Given the description of an element on the screen output the (x, y) to click on. 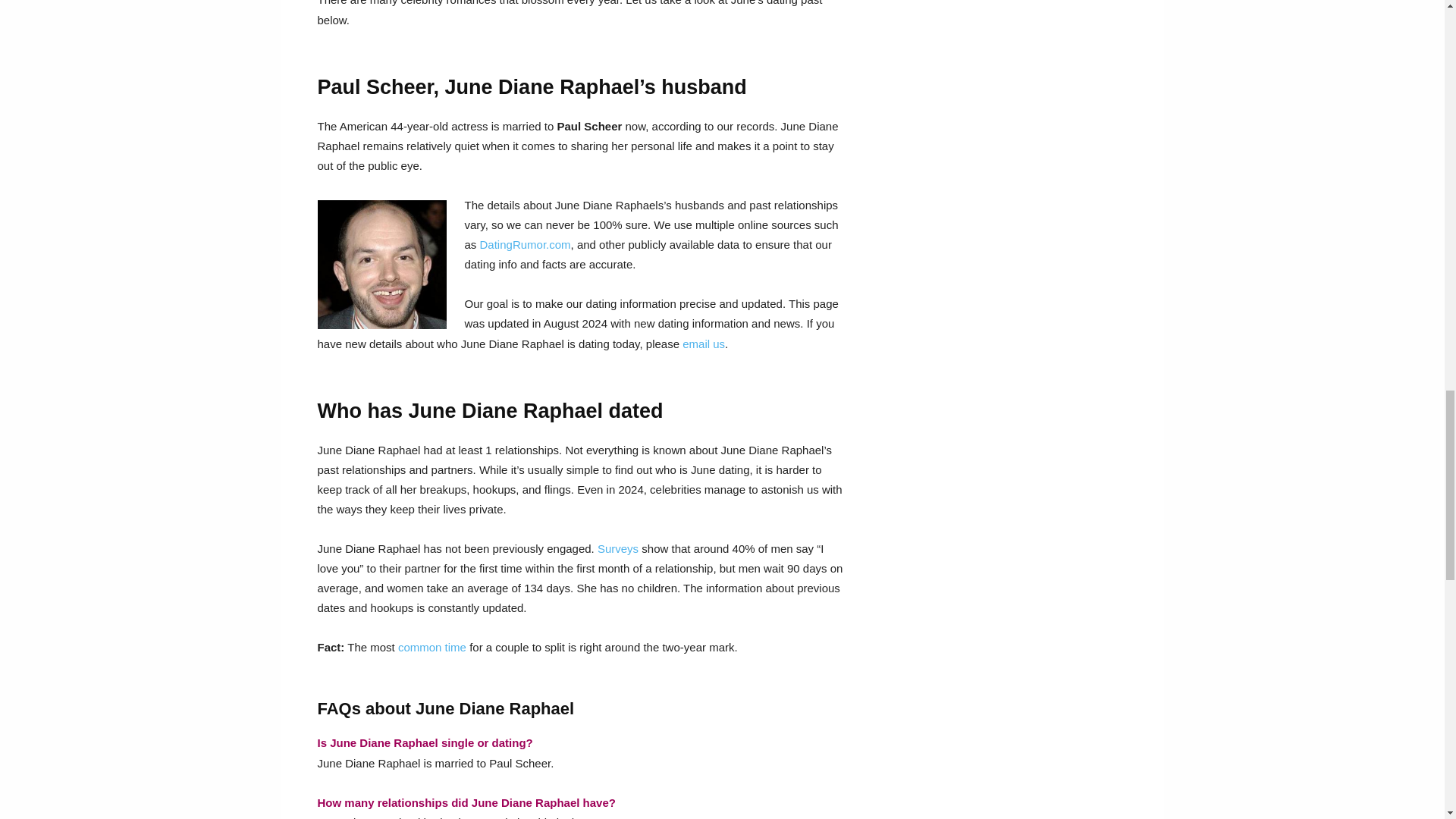
common time (431, 646)
DatingRumor.com (525, 244)
Contact CelebsInsights (703, 342)
June Diane Raphael's Husband now (525, 244)
email us (703, 342)
Surveys (617, 548)
